Given the description of an element on the screen output the (x, y) to click on. 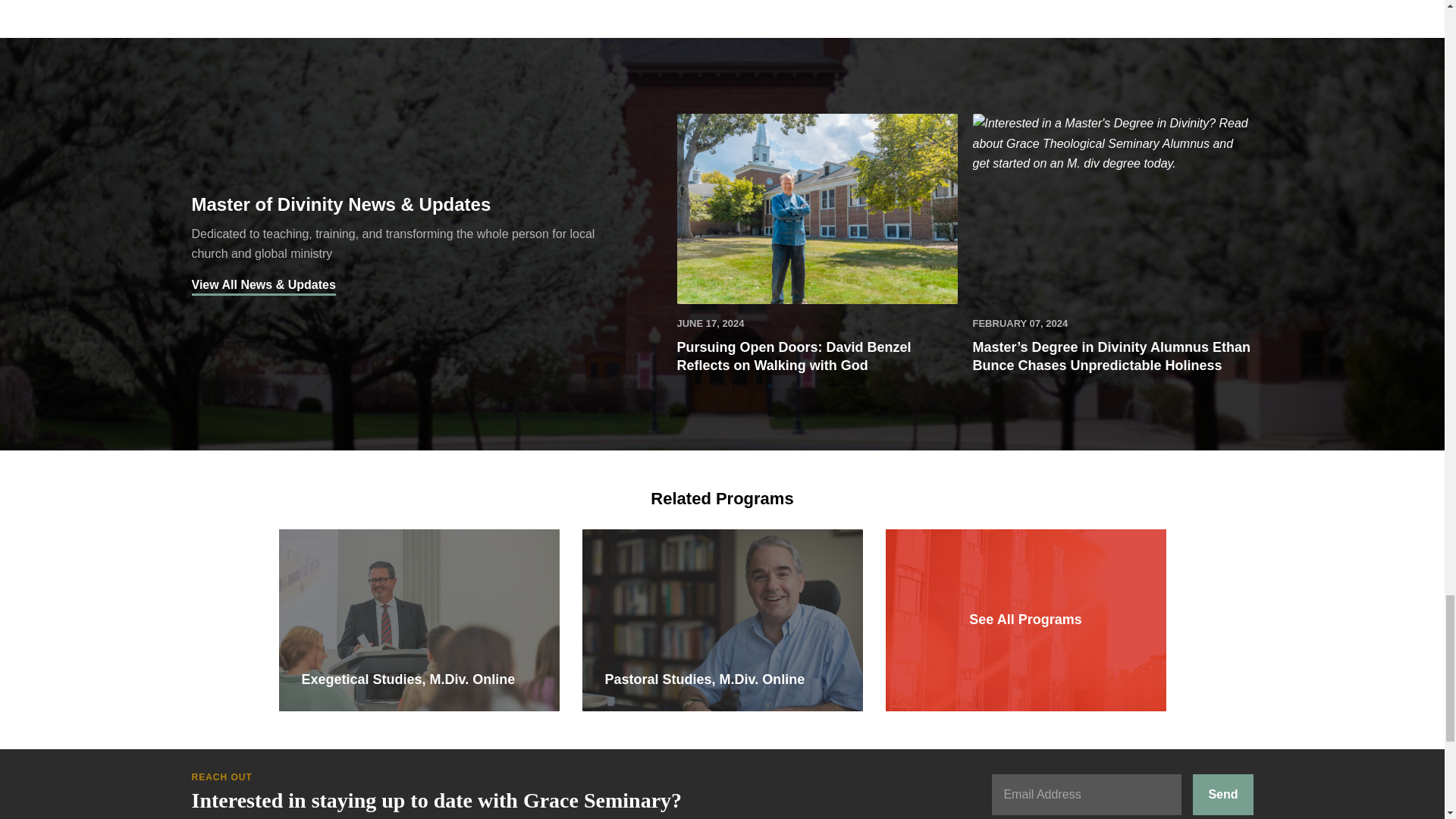
Send (1222, 793)
